Given the description of an element on the screen output the (x, y) to click on. 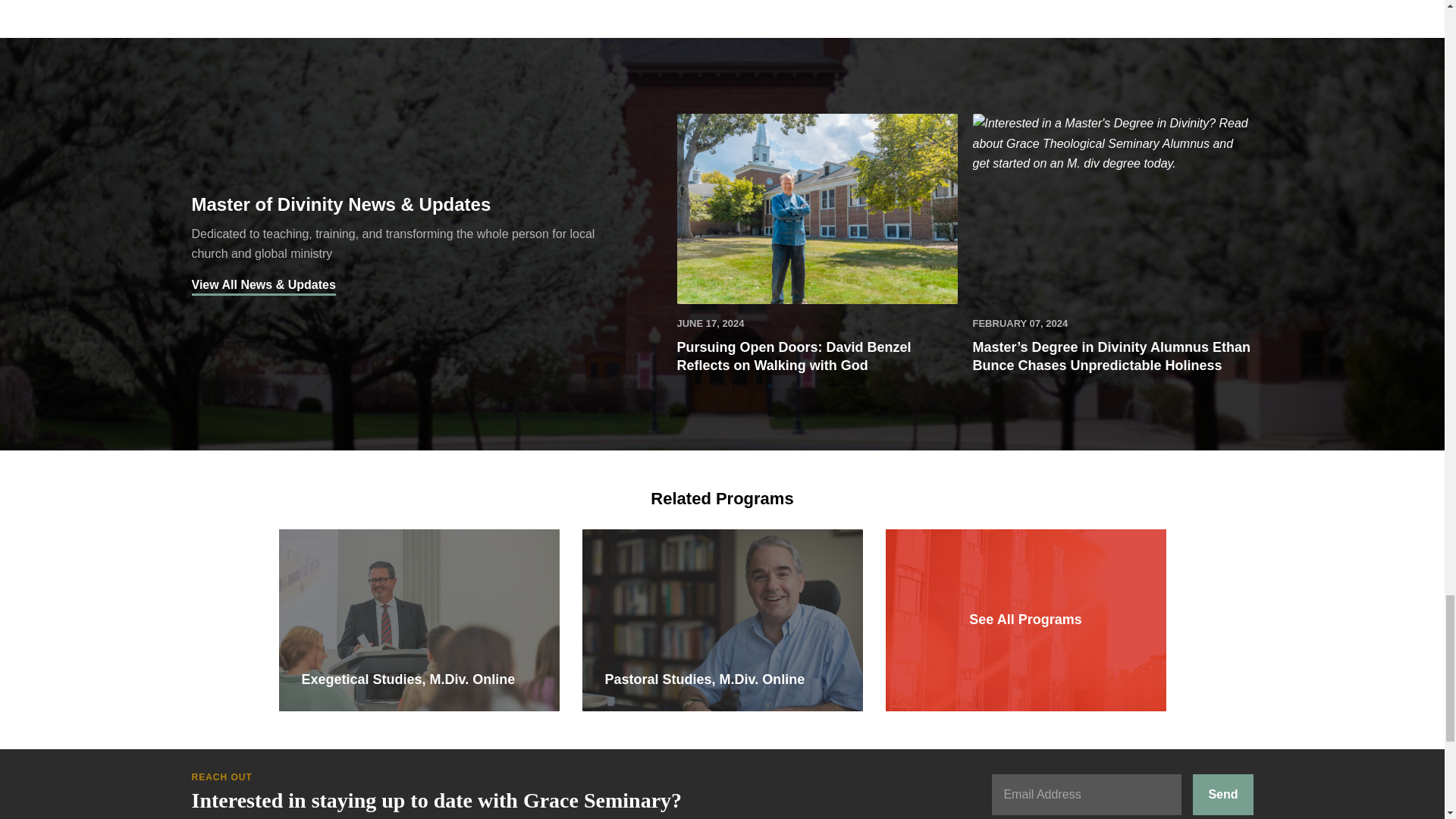
Send (1222, 793)
